Given the description of an element on the screen output the (x, y) to click on. 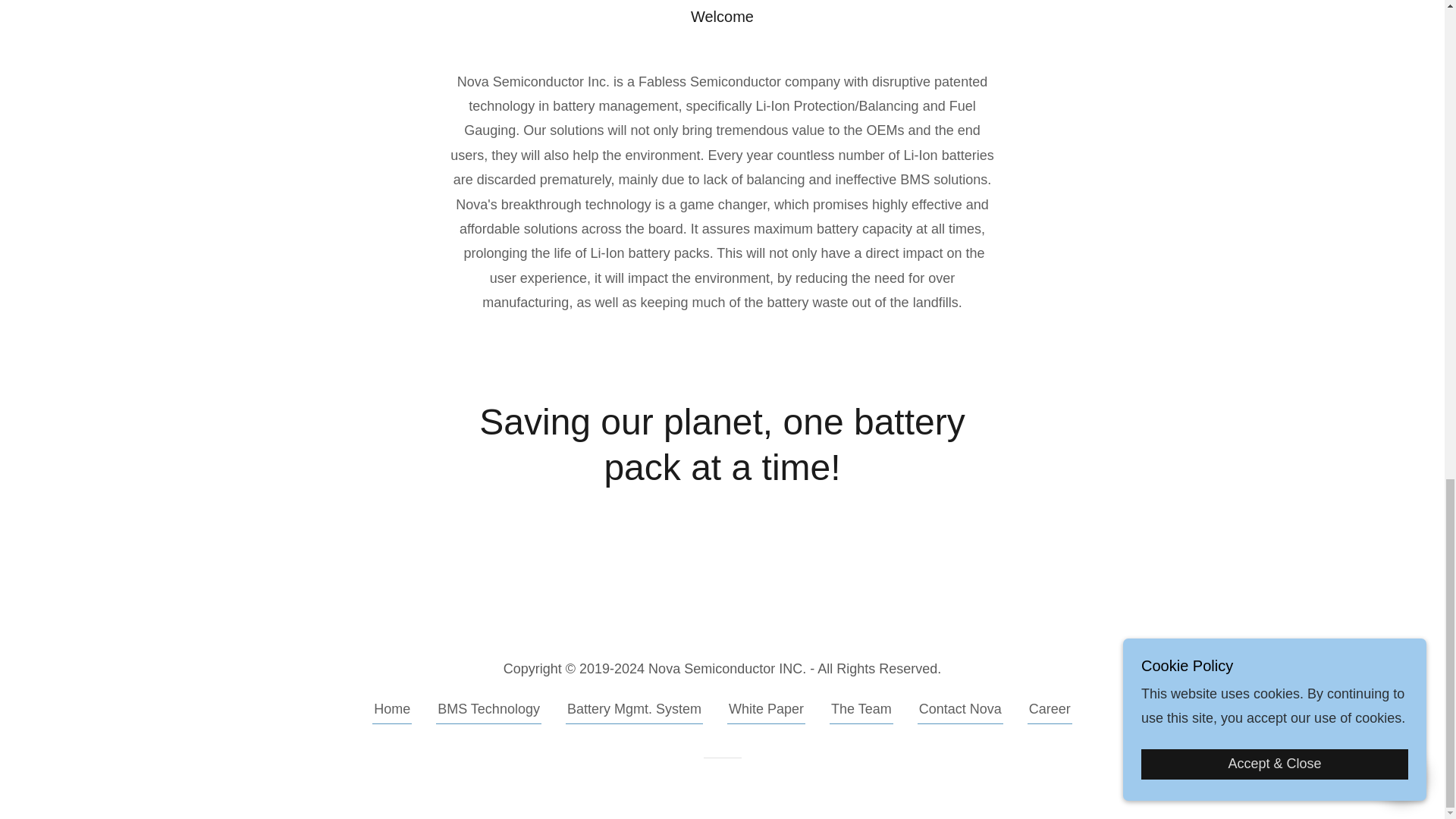
Battery Mgmt. System (634, 711)
Career (1049, 711)
BMS Technology (488, 711)
Home (392, 711)
Contact Nova (960, 711)
White Paper (765, 711)
The Team (861, 711)
